Given the description of an element on the screen output the (x, y) to click on. 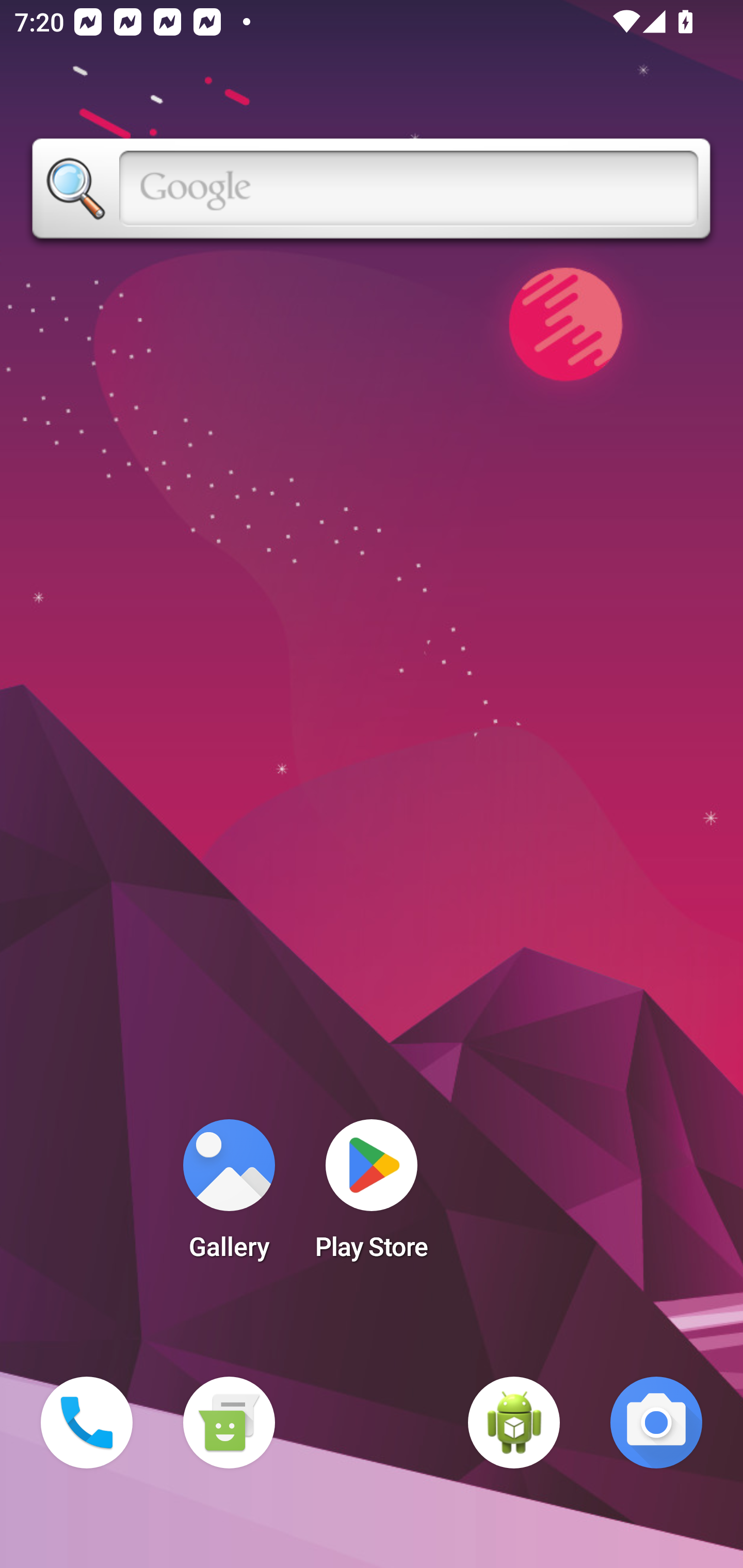
Gallery (228, 1195)
Play Store (371, 1195)
Phone (86, 1422)
Messaging (228, 1422)
WebView Browser Tester (513, 1422)
Camera (656, 1422)
